Given the description of an element on the screen output the (x, y) to click on. 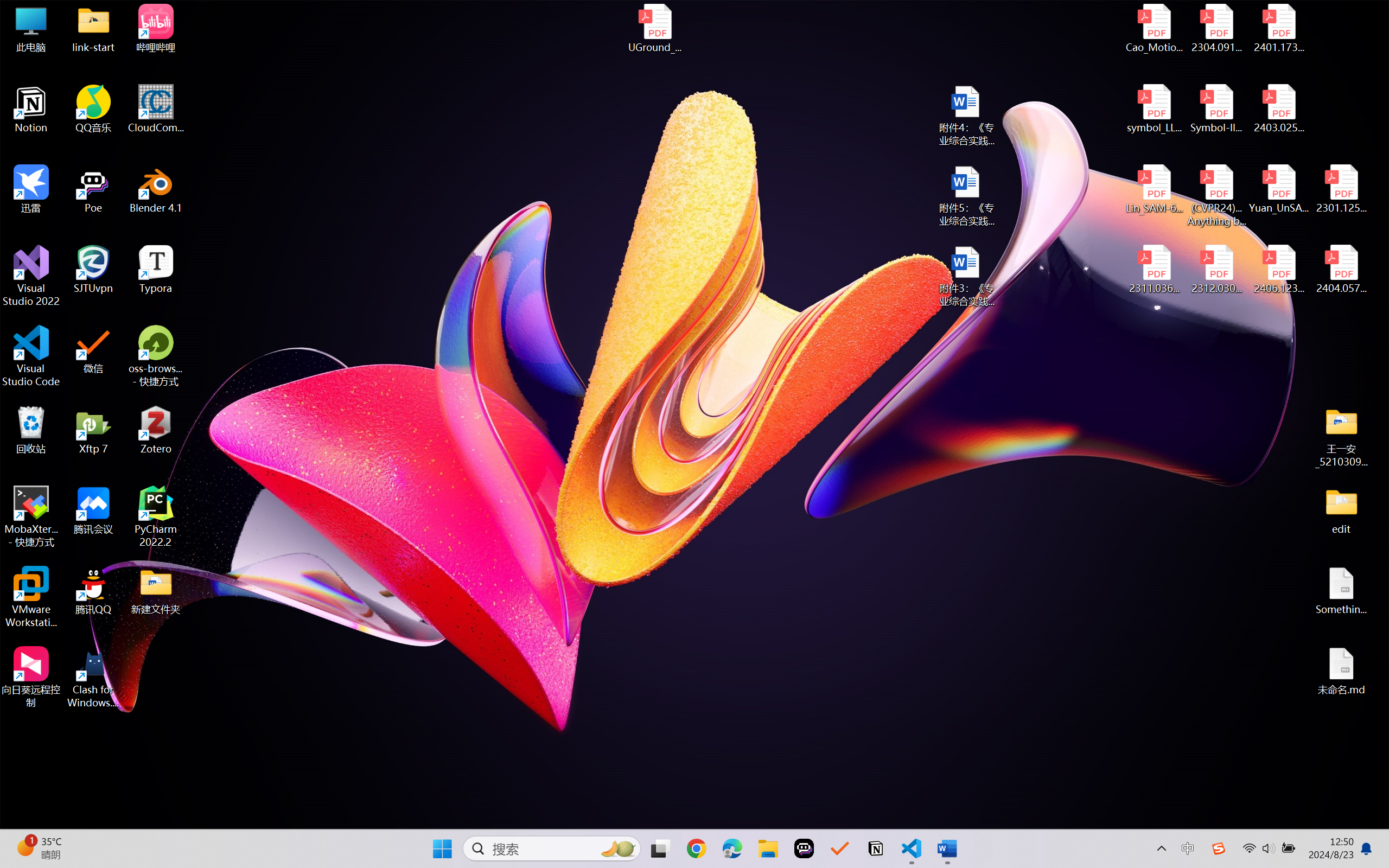
2311.03658v2.pdf (1154, 269)
2406.12373v2.pdf (1278, 269)
2312.03032v2.pdf (1216, 269)
2403.02502v1.pdf (1278, 109)
